Given the description of an element on the screen output the (x, y) to click on. 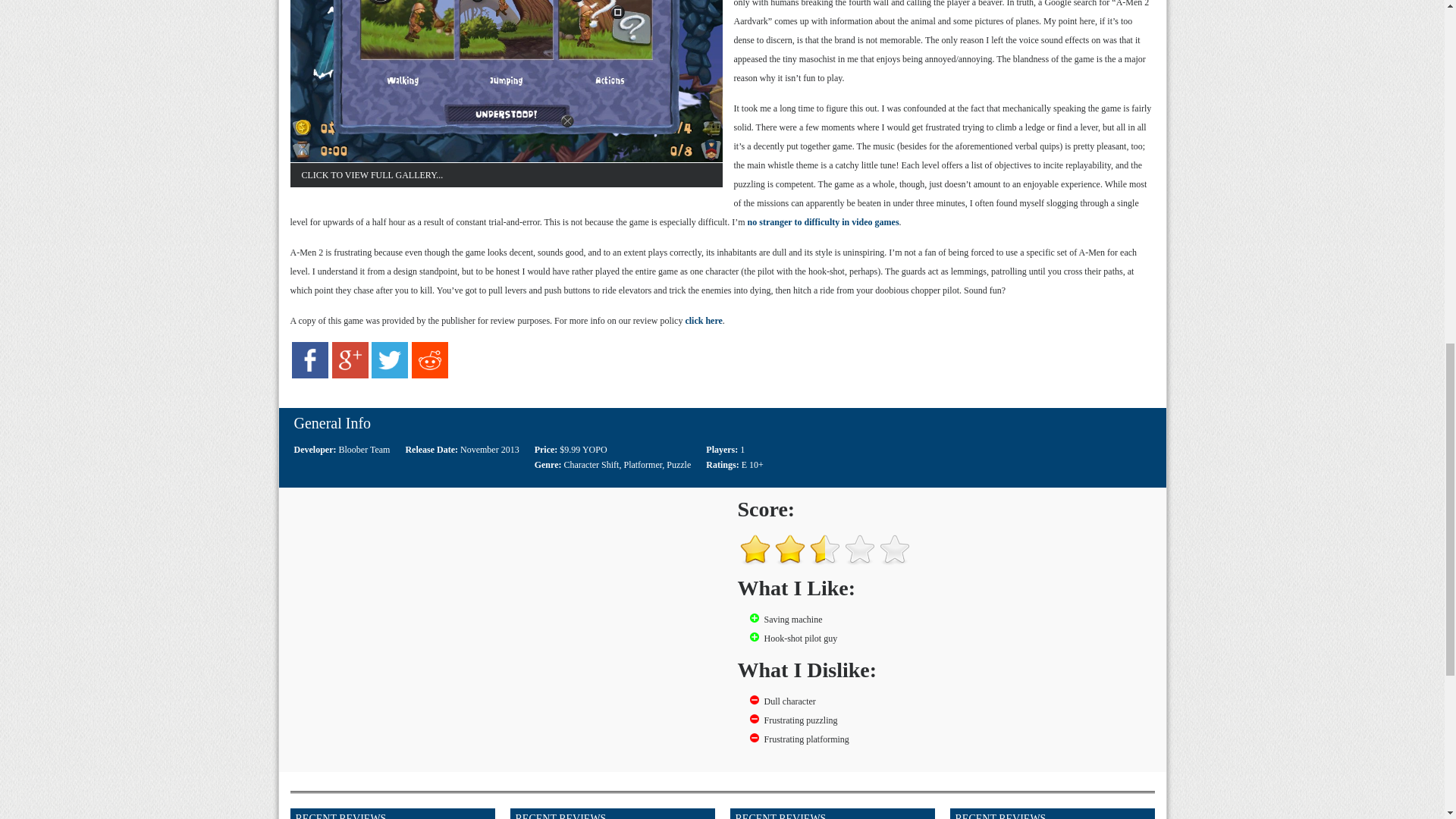
Share via Reddit (430, 375)
Share via Google (349, 375)
Share via Twitter (389, 375)
Share via Facebook (310, 375)
